Given the description of an element on the screen output the (x, y) to click on. 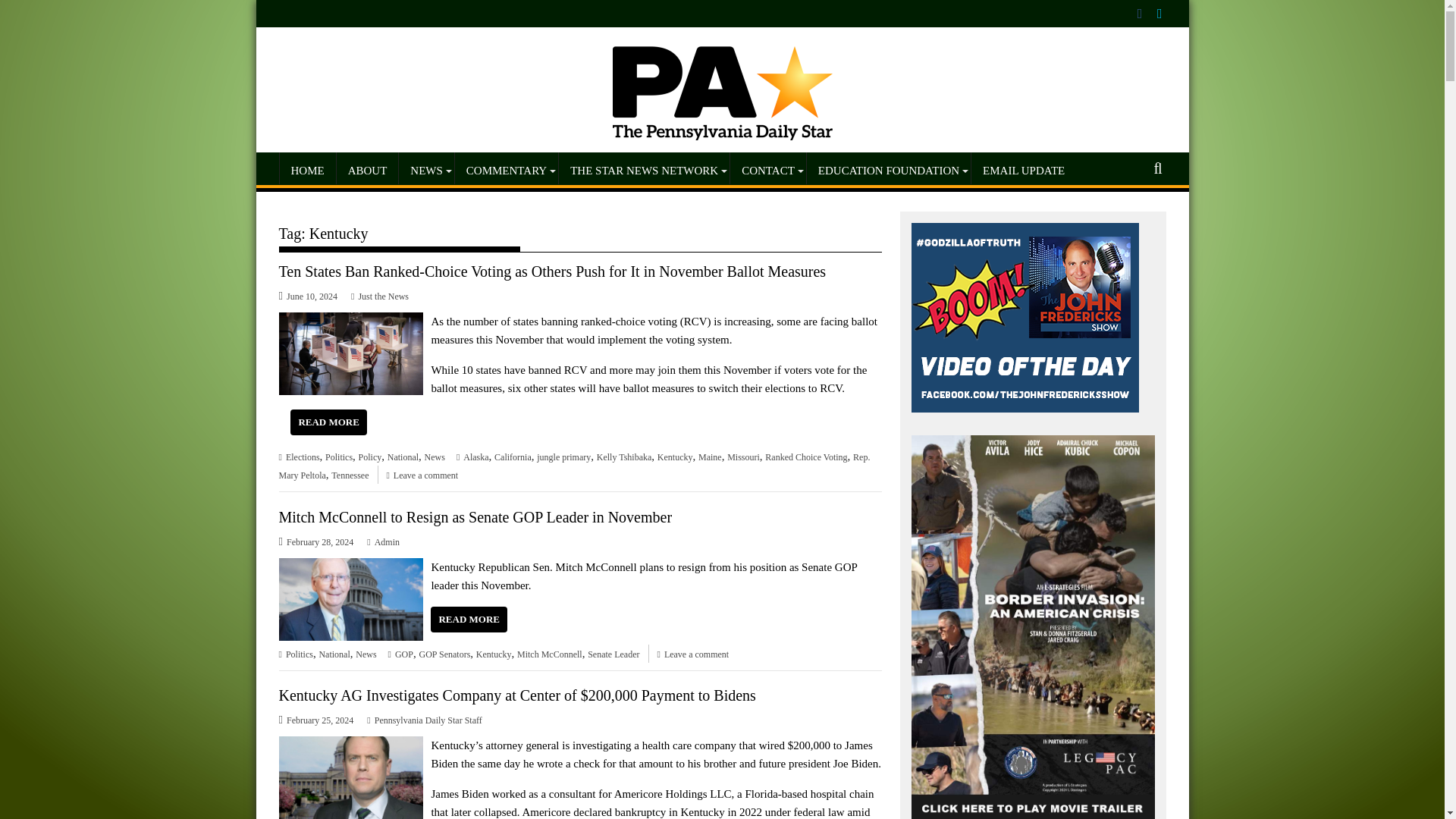
EMAIL UPDATE (1023, 170)
CONTACT (768, 170)
EDUCATION FOUNDATION (888, 170)
ABOUT (367, 170)
Mitch McConnell to Resign as Senate GOP Leader in November (351, 567)
NEWS (426, 170)
HOME (306, 170)
COMMENTARY (505, 170)
THE STAR NEWS NETWORK (644, 170)
